Given the description of an element on the screen output the (x, y) to click on. 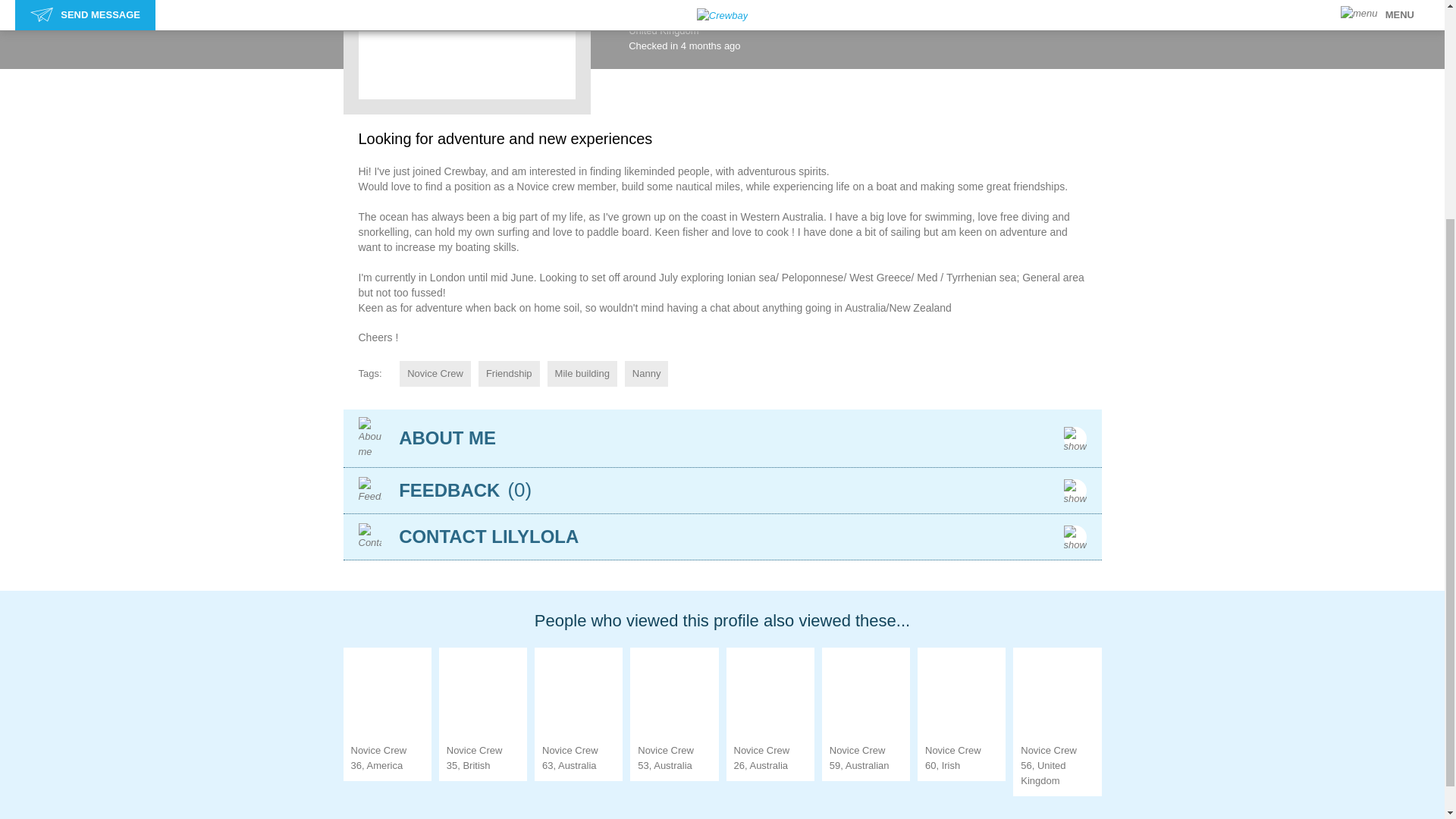
Mile building (582, 373)
Nanny (646, 373)
Novice Crew (435, 373)
Friendship (509, 373)
